Given the description of an element on the screen output the (x, y) to click on. 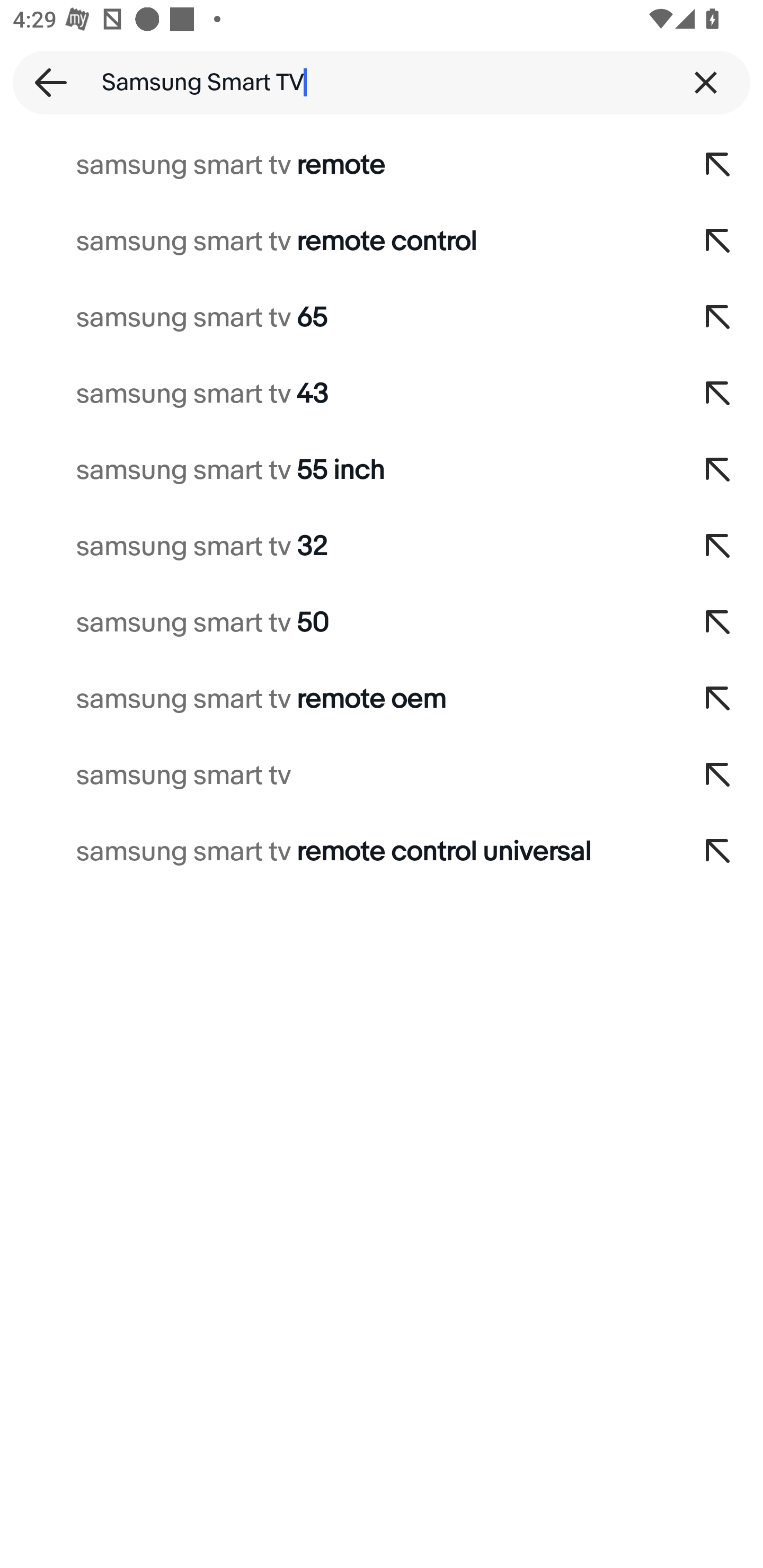
Back (44, 82)
Clear query (705, 82)
Samsung Smart TV (381, 82)
samsung smart tv remote (336, 165)
Add to search query,samsung smart tv remote (718, 165)
samsung smart tv remote control (336, 241)
samsung smart tv 65 (336, 317)
Add to search query,samsung smart tv 65 (718, 317)
samsung smart tv 43 (336, 393)
Add to search query,samsung smart tv 43 (718, 393)
samsung smart tv 55 inch (336, 470)
Add to search query,samsung smart tv 55 inch (718, 470)
samsung smart tv 32 (336, 546)
Add to search query,samsung smart tv 32 (718, 546)
samsung smart tv 50 (336, 622)
Add to search query,samsung smart tv 50 (718, 622)
samsung smart tv remote oem (336, 698)
Add to search query,samsung smart tv remote oem (718, 698)
samsung smart tv (336, 774)
Add to search query,samsung smart tv (718, 774)
samsung smart tv remote control universal (336, 851)
